Given the description of an element on the screen output the (x, y) to click on. 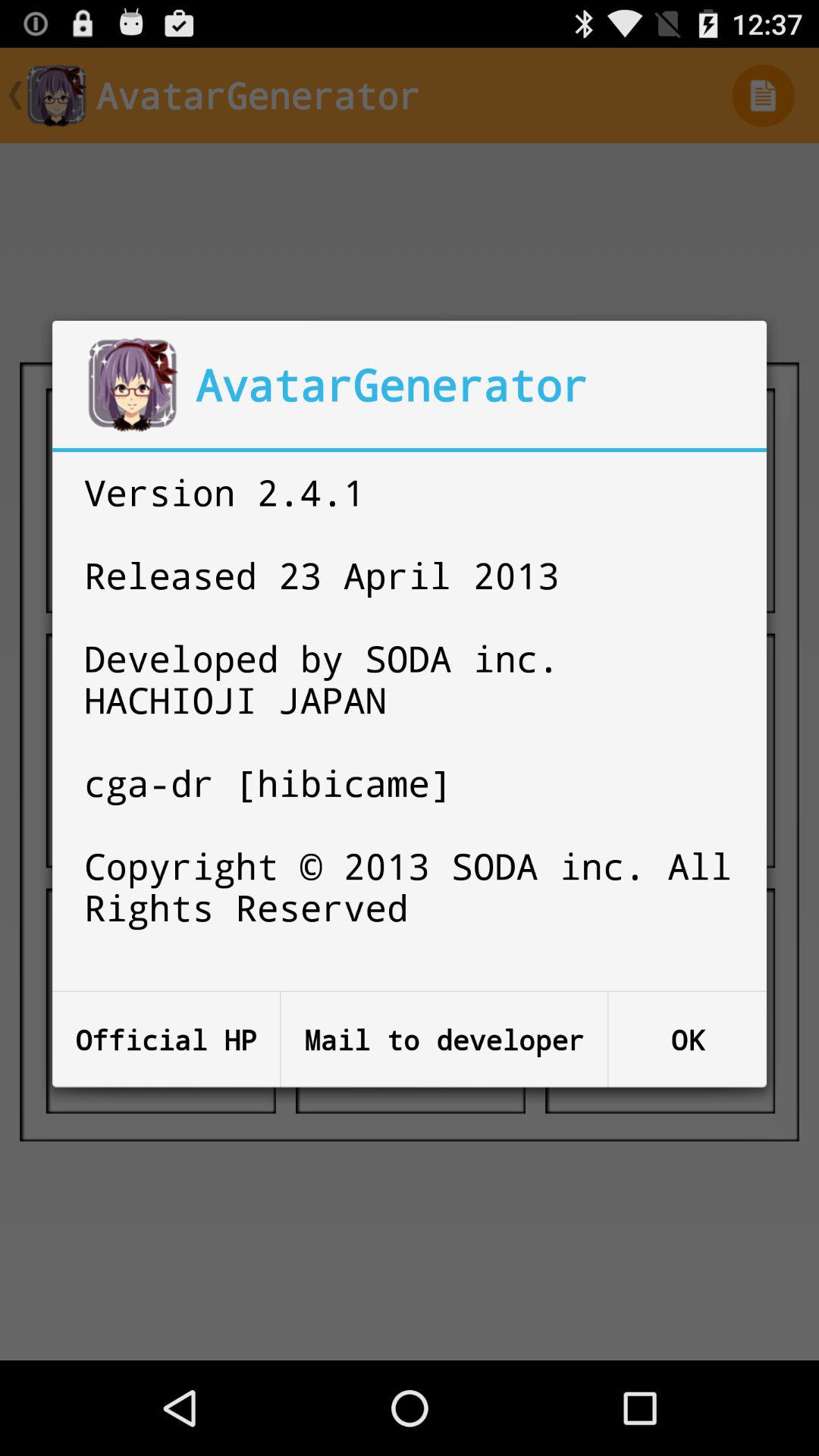
turn off button to the right of mail to developer (687, 1039)
